Given the description of an element on the screen output the (x, y) to click on. 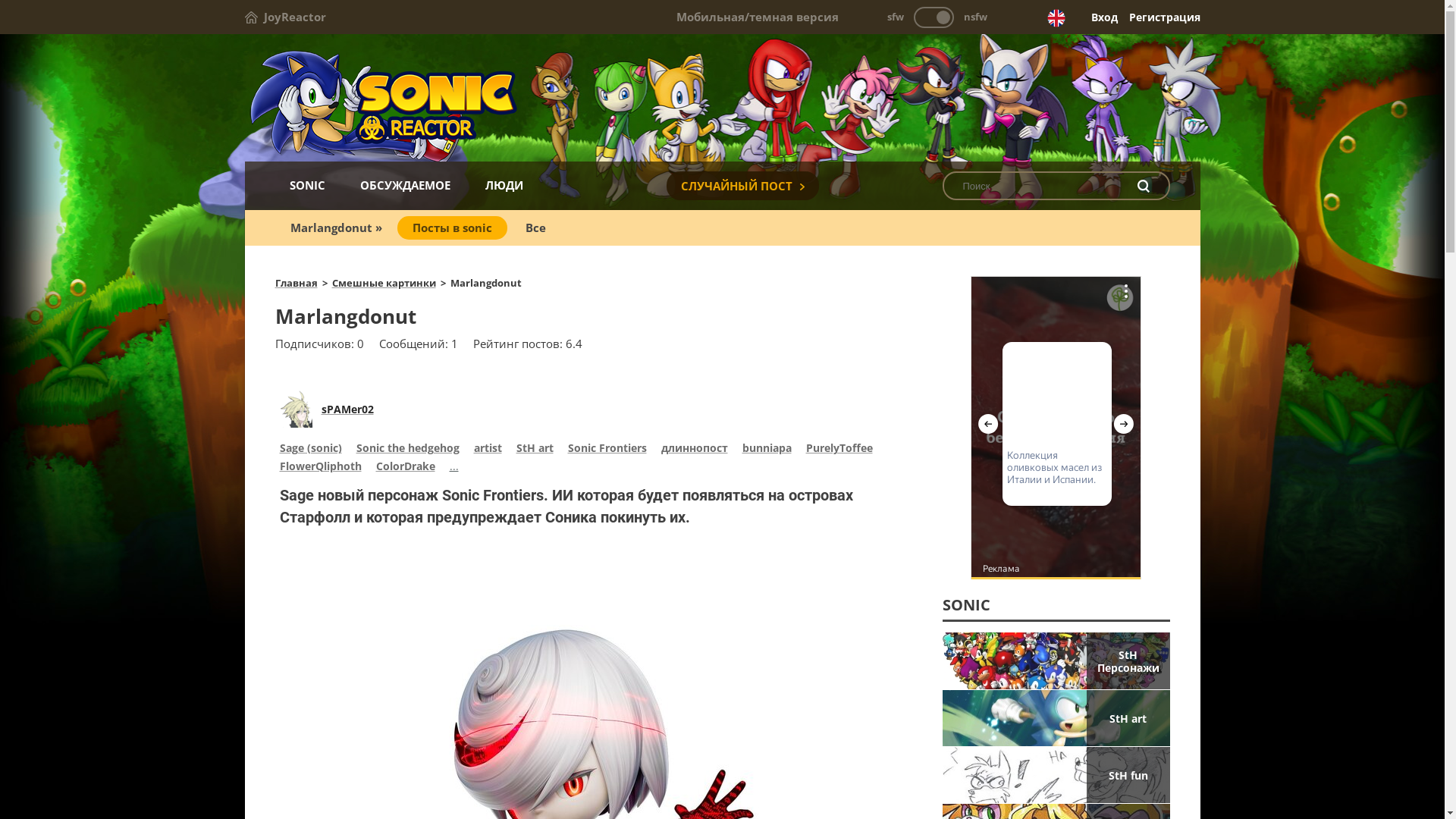
FlowerQliphoth Element type: text (319, 467)
PurelyToffee Element type: text (838, 449)
StH art Element type: text (1055, 718)
sPAMer02 Element type: text (347, 408)
StH art Element type: text (533, 449)
English version Element type: hover (1055, 18)
Sonic Element type: text (721, 98)
JoyReactor Element type: text (284, 17)
StH fun Element type: text (1055, 774)
Sonic Frontiers Element type: text (606, 449)
Sage (sonic) Element type: text (310, 449)
SONIC Element type: text (306, 184)
artist Element type: text (487, 449)
Sonic the hedgehog Element type: text (407, 449)
ColorDrake Element type: text (405, 467)
bunniapa Element type: text (765, 449)
